Given the description of an element on the screen output the (x, y) to click on. 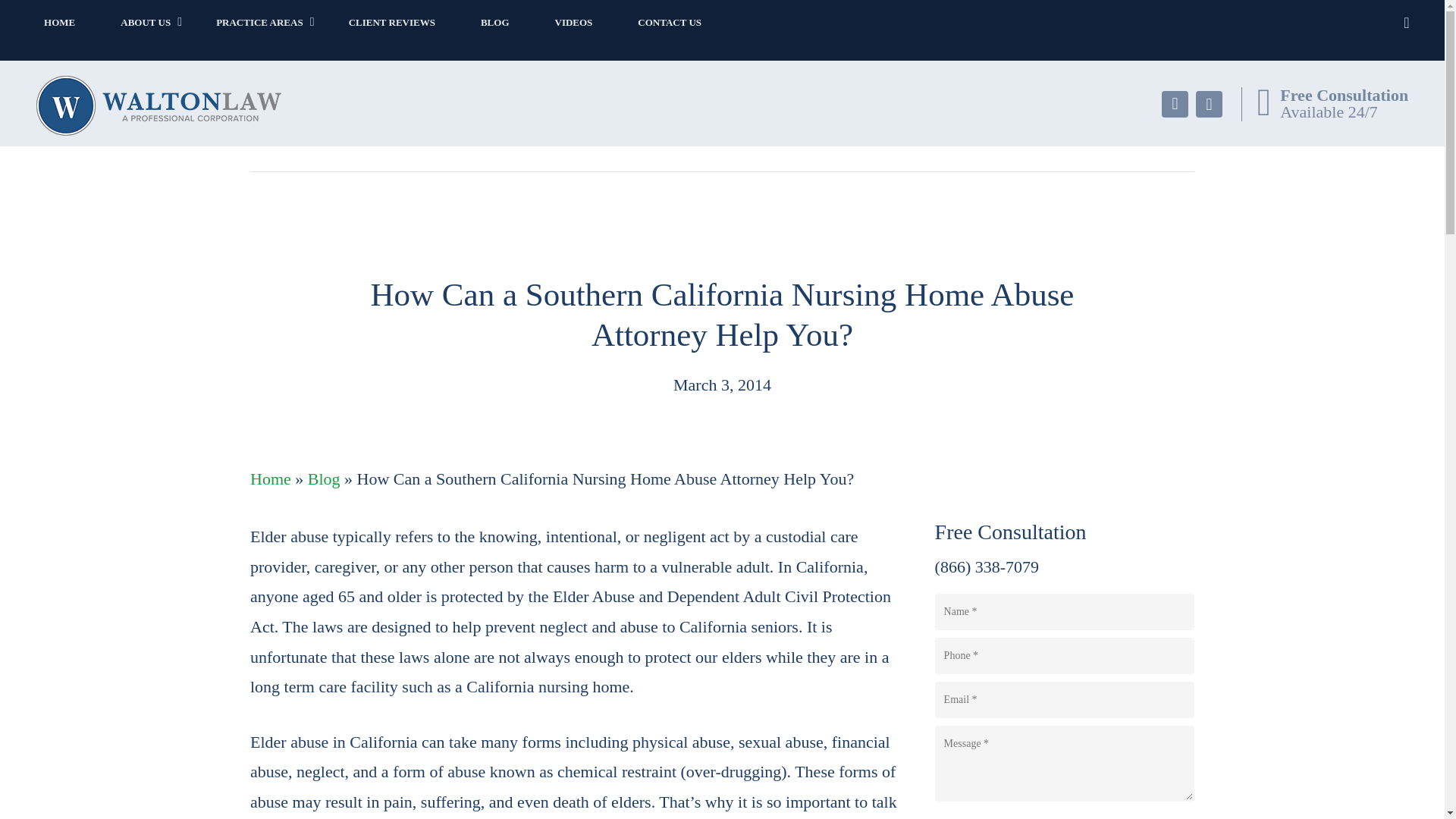
CLIENT REVIEWS (392, 22)
Blog (323, 478)
Free Consultation (1343, 94)
CONTACT US (668, 22)
ABOUT US (145, 22)
HOME (59, 22)
search (1406, 23)
VIDEOS (573, 22)
BLOG (495, 22)
Home (270, 478)
PRACTICE AREAS (259, 22)
linkedin (1174, 103)
youtube (1209, 103)
